Given the description of an element on the screen output the (x, y) to click on. 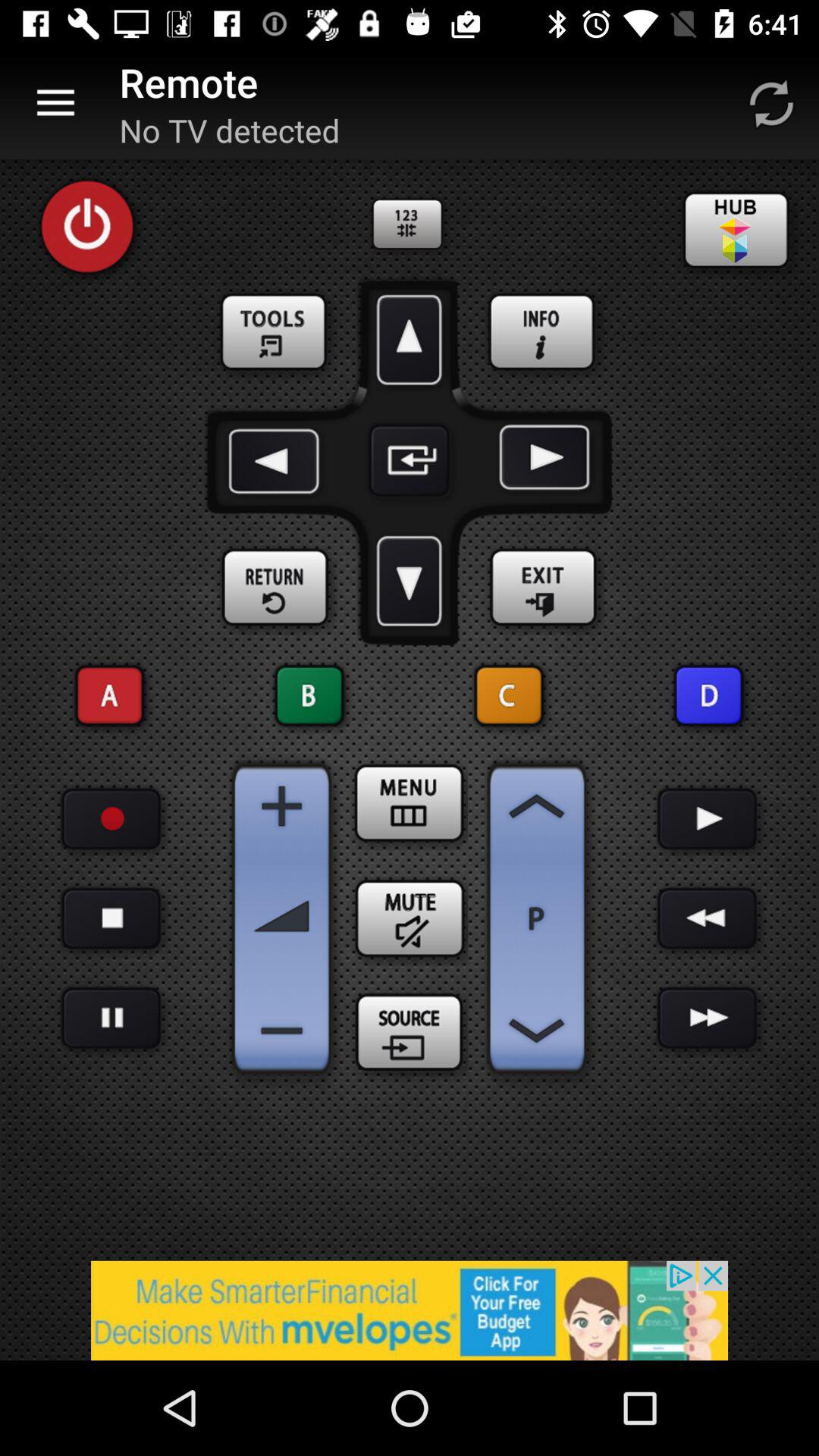
mute option (409, 918)
